Given the description of an element on the screen output the (x, y) to click on. 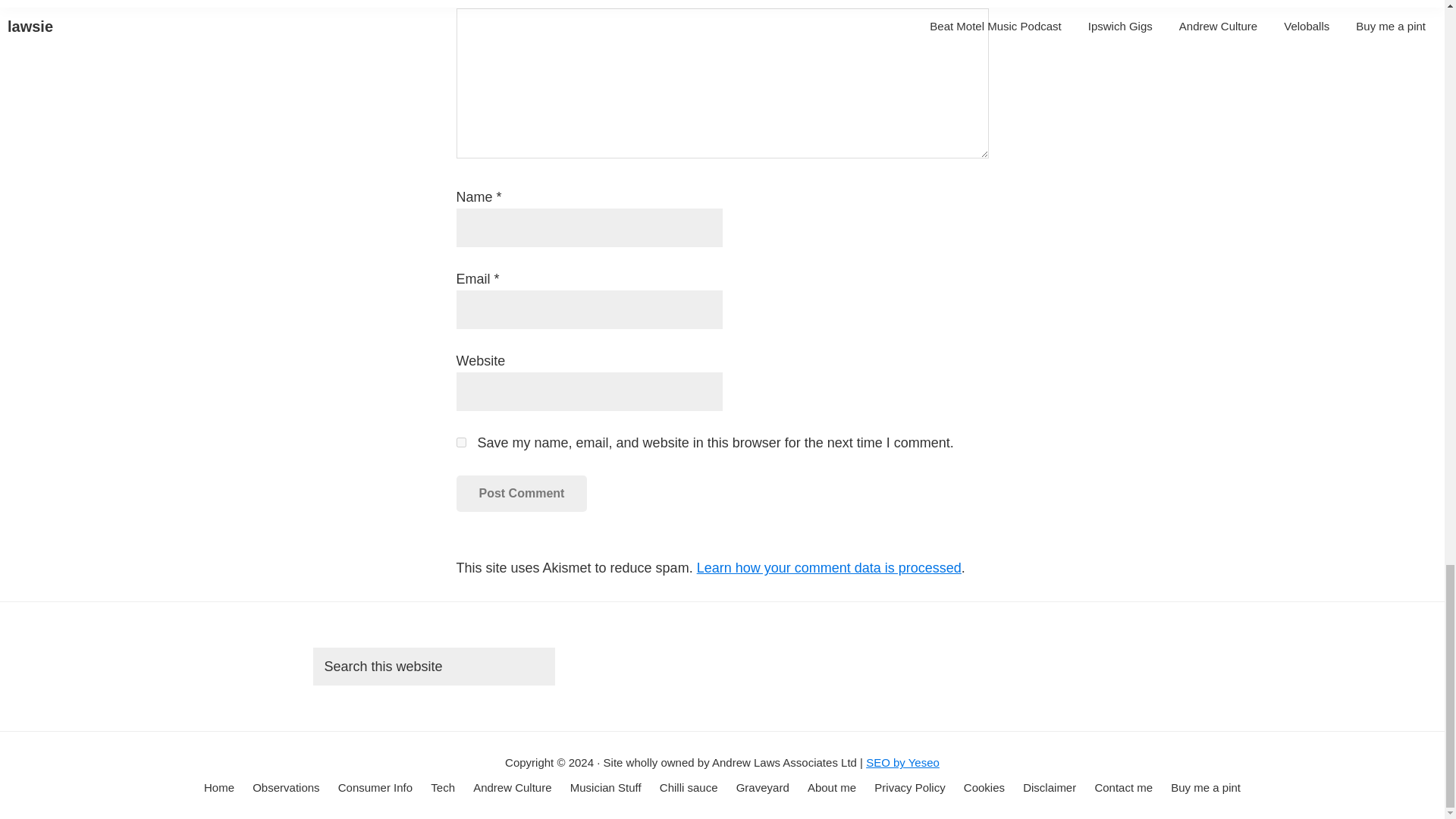
Consumer Info (374, 787)
Andrew Culture (512, 787)
Graveyard (762, 787)
About me (832, 787)
SEO by Yeseo (902, 762)
Tech (442, 787)
Post Comment (522, 493)
Home (218, 787)
yes (461, 442)
Disclaimer (1049, 787)
Contact me (1123, 787)
Musician Stuff (606, 787)
